Given the description of an element on the screen output the (x, y) to click on. 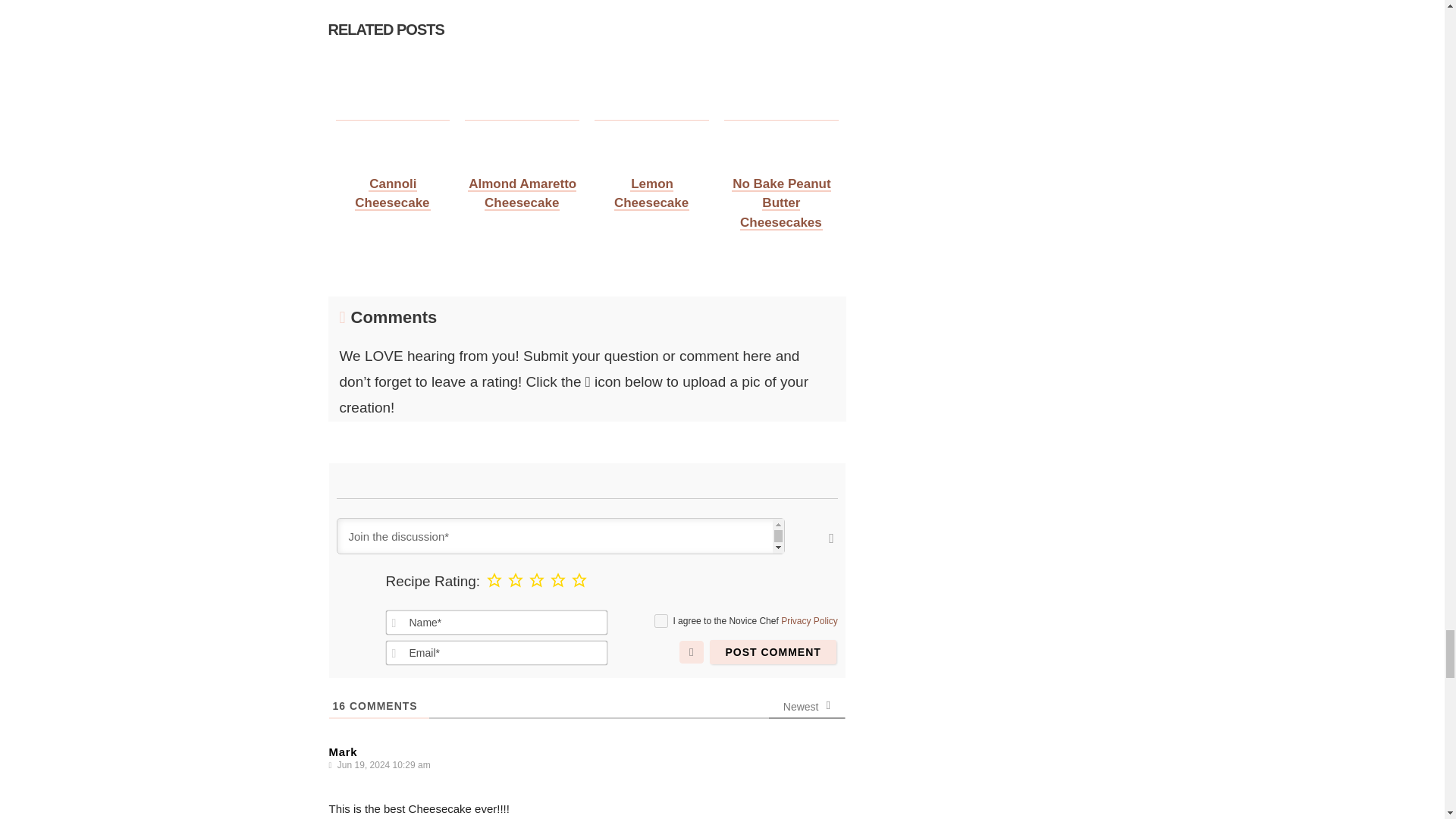
1 (660, 620)
Post Comment (772, 651)
